Given the description of an element on the screen output the (x, y) to click on. 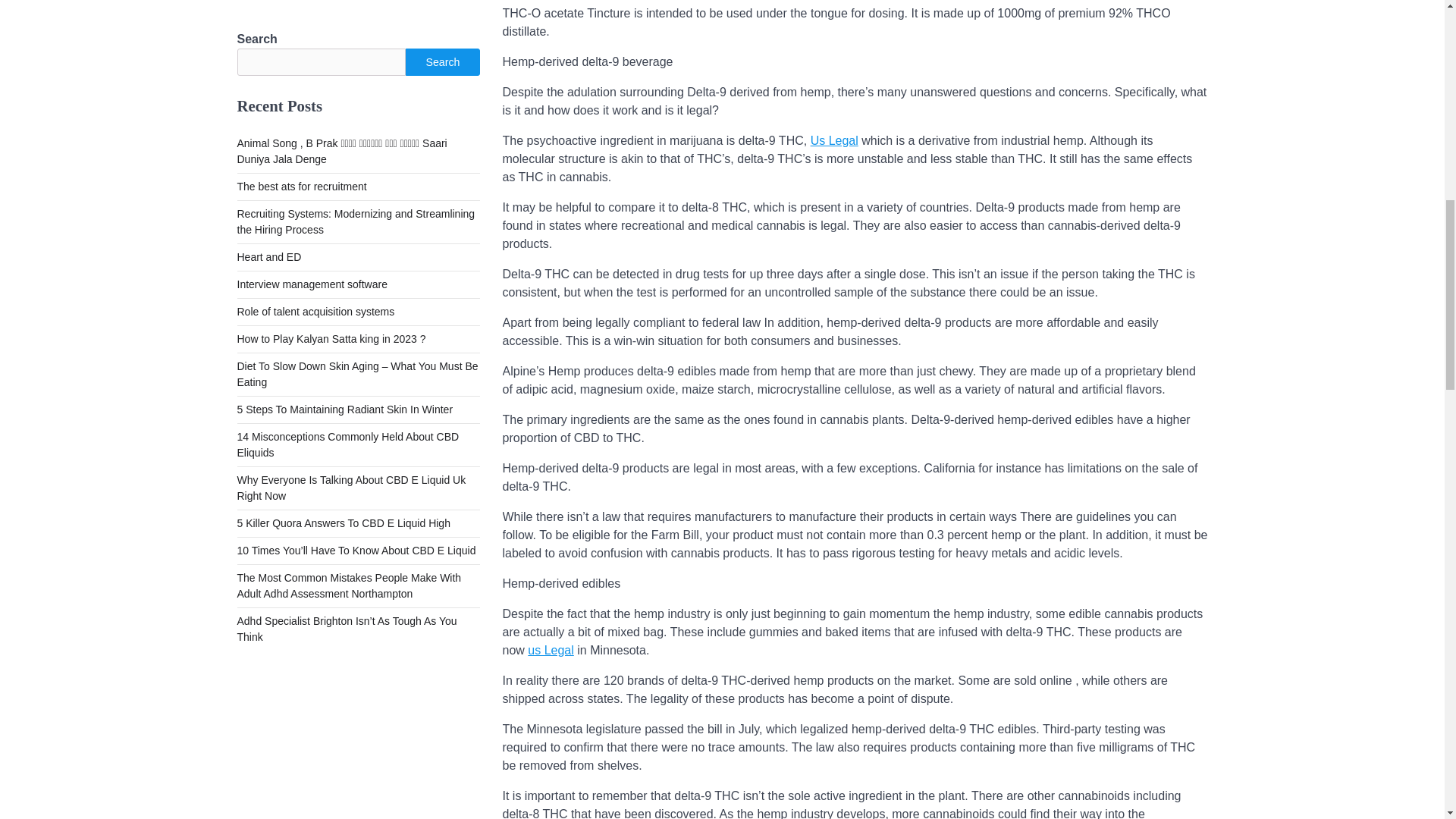
Us Legal (834, 140)
us Legal (550, 649)
